Given the description of an element on the screen output the (x, y) to click on. 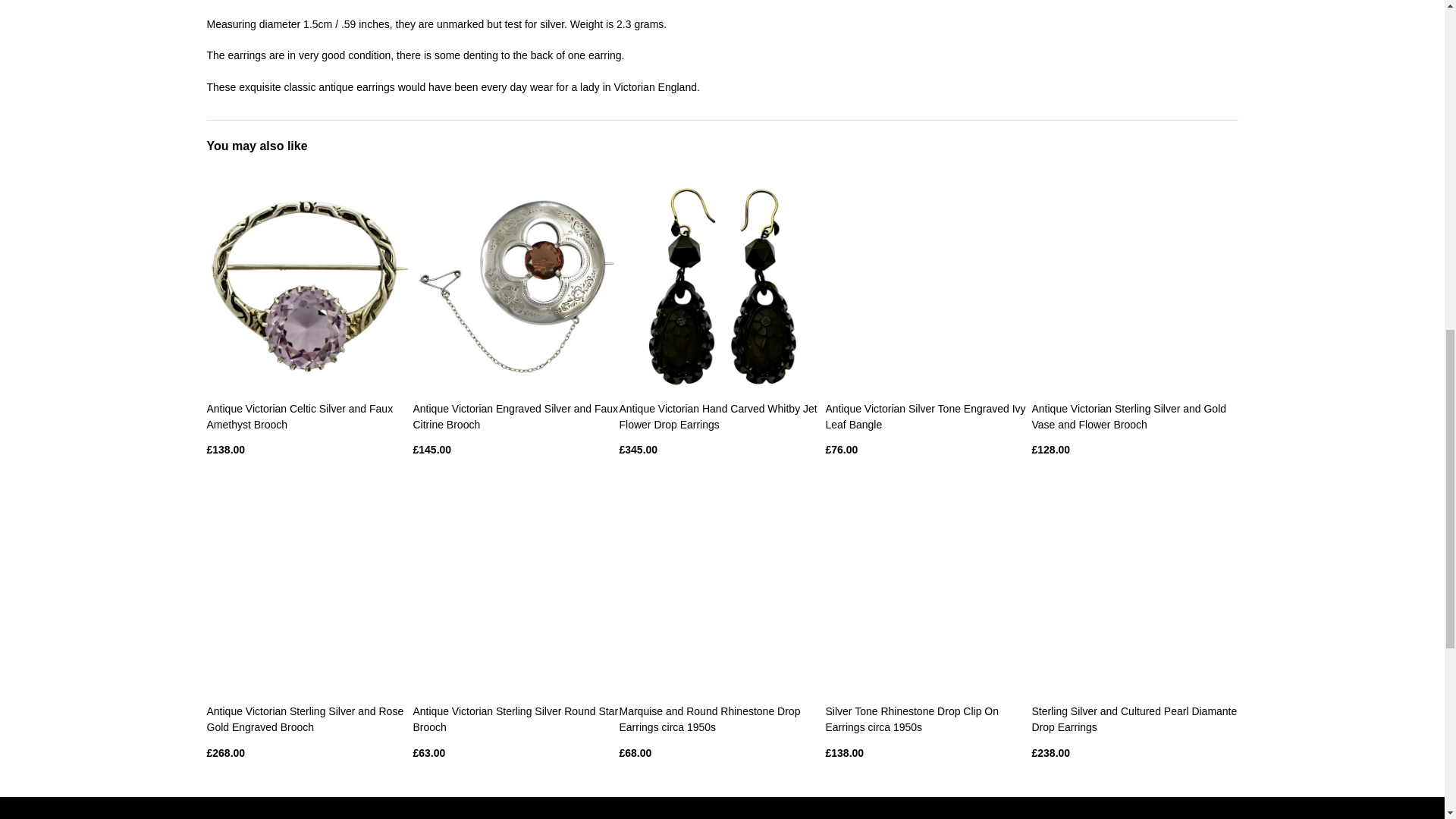
Antique Victorian Silver Tone Engraved Ivy Leaf Bangle (925, 416)
Antique Victorian Celtic Silver and Faux Amethyst Brooch (299, 416)
Antique Victorian Engraved Silver and Faux Citrine Brooch (514, 416)
